Given the description of an element on the screen output the (x, y) to click on. 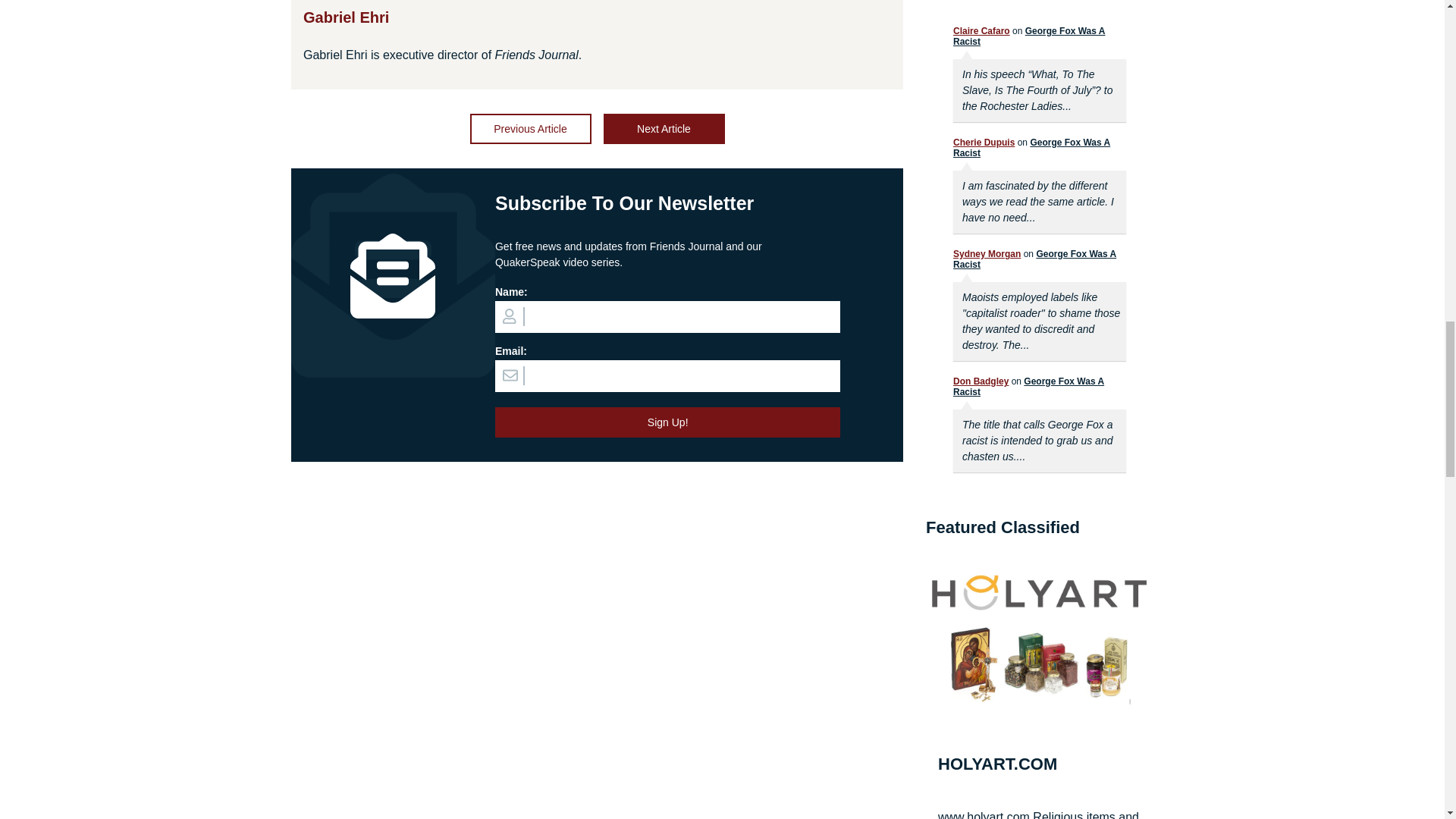
Previous Article (530, 128)
Next Article (664, 128)
Gabriel Ehri (345, 17)
Sign Up! (667, 422)
Sign Up! (667, 422)
